Given the description of an element on the screen output the (x, y) to click on. 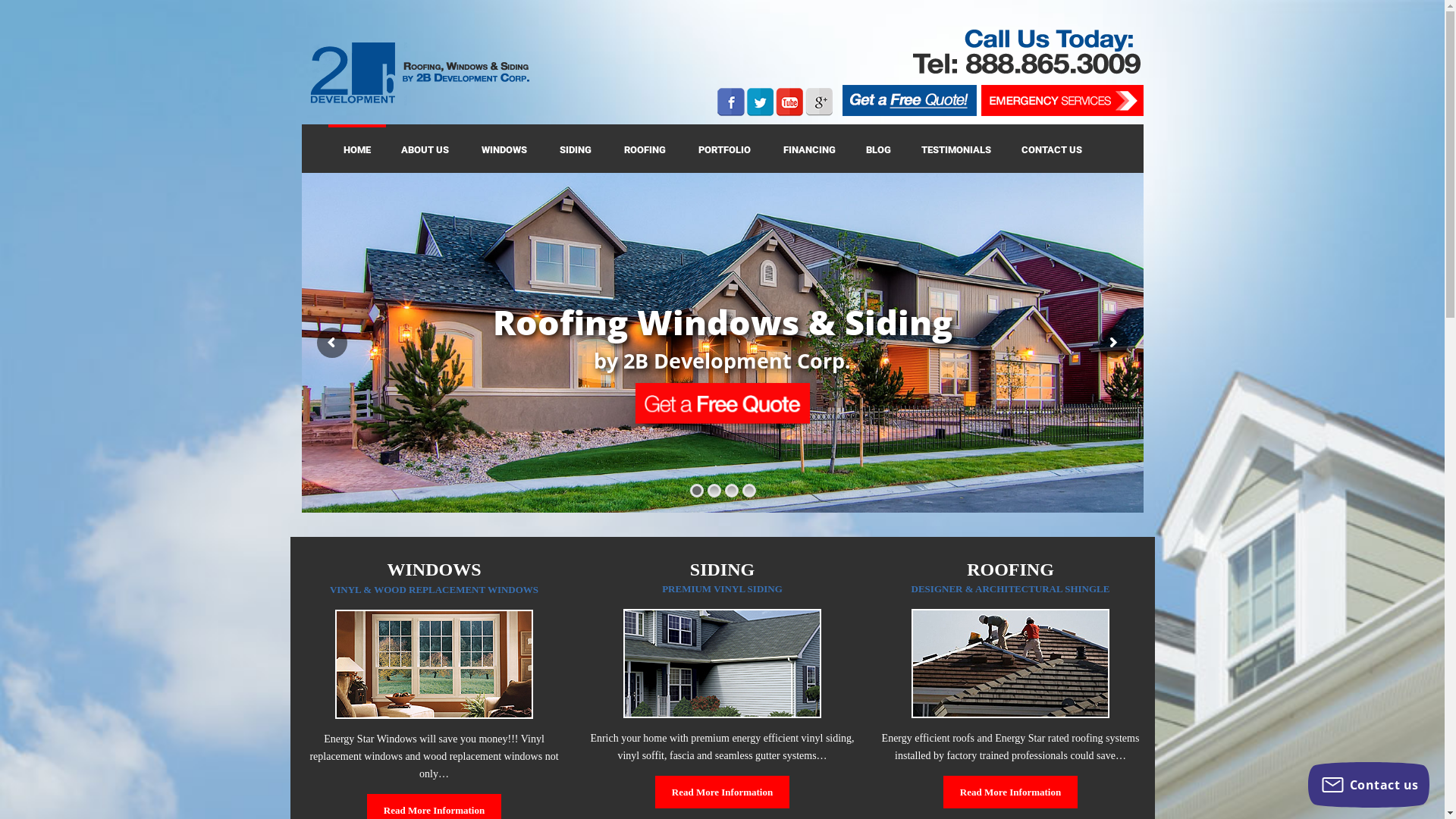
CONTACT US Element type: text (1051, 148)
FINANCING Element type: text (808, 148)
WINDOWS Element type: text (504, 148)
HOME Element type: text (356, 148)
BLOG Element type: text (878, 148)
ROOFING Element type: text (645, 148)
ABOUT US Element type: text (425, 148)
SIDING Element type: text (576, 148)
TESTIMONIALS Element type: text (955, 148)
PORTFOLIO Element type: text (724, 148)
Read More Information Element type: text (1010, 791)
Read More Information Element type: text (722, 791)
Contact us Element type: text (1368, 784)
